Given the description of an element on the screen output the (x, y) to click on. 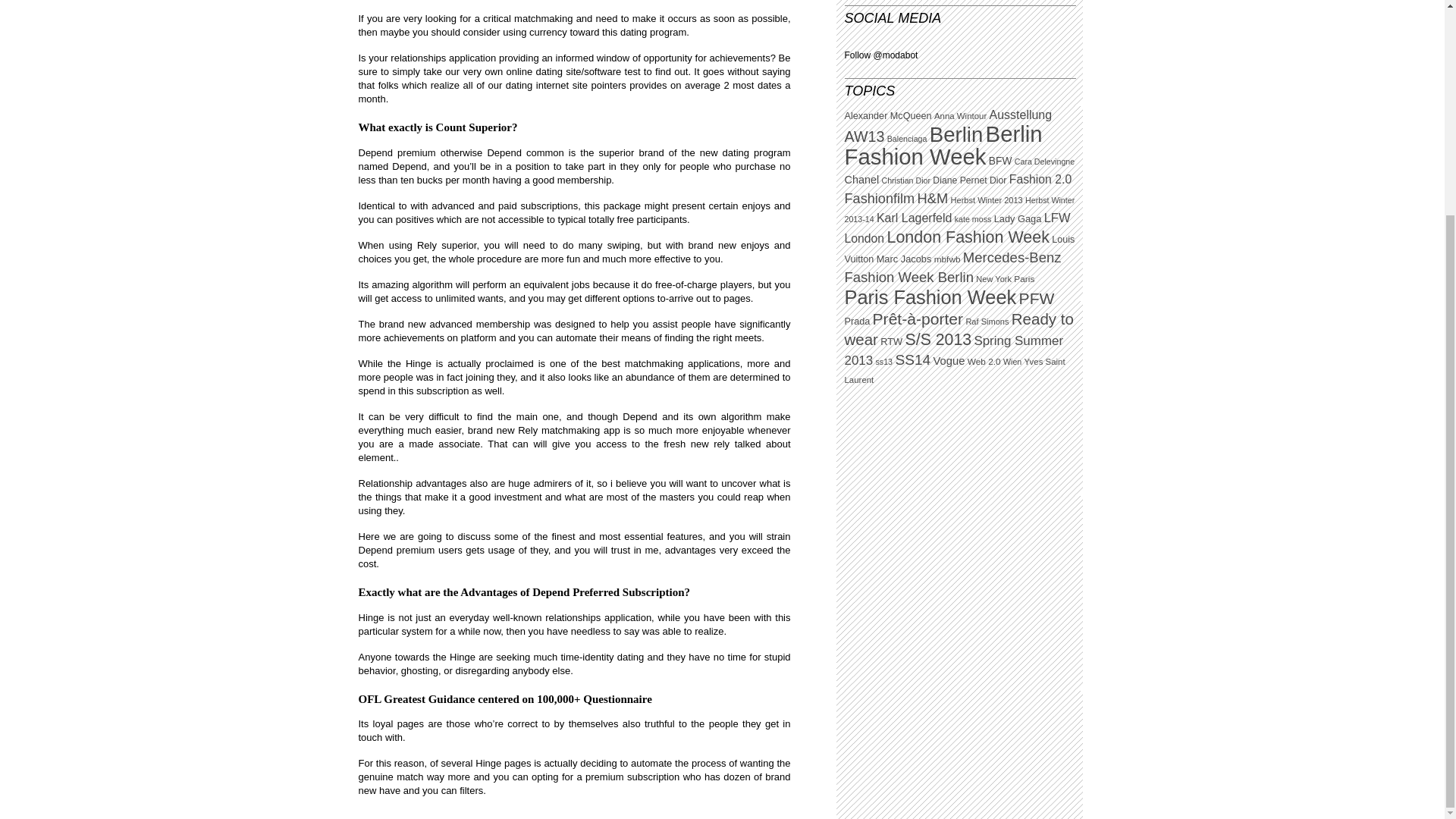
Chanel (861, 179)
Balenciaga (906, 138)
Berlin Fashion Week (943, 144)
Lady Gaga (1018, 218)
Ausstellung (1021, 114)
Karl Lagerfeld (914, 217)
AW13 (864, 135)
Cara Delevingne (1044, 161)
23 Themen (960, 180)
19 Themen (905, 180)
